Given the description of an element on the screen output the (x, y) to click on. 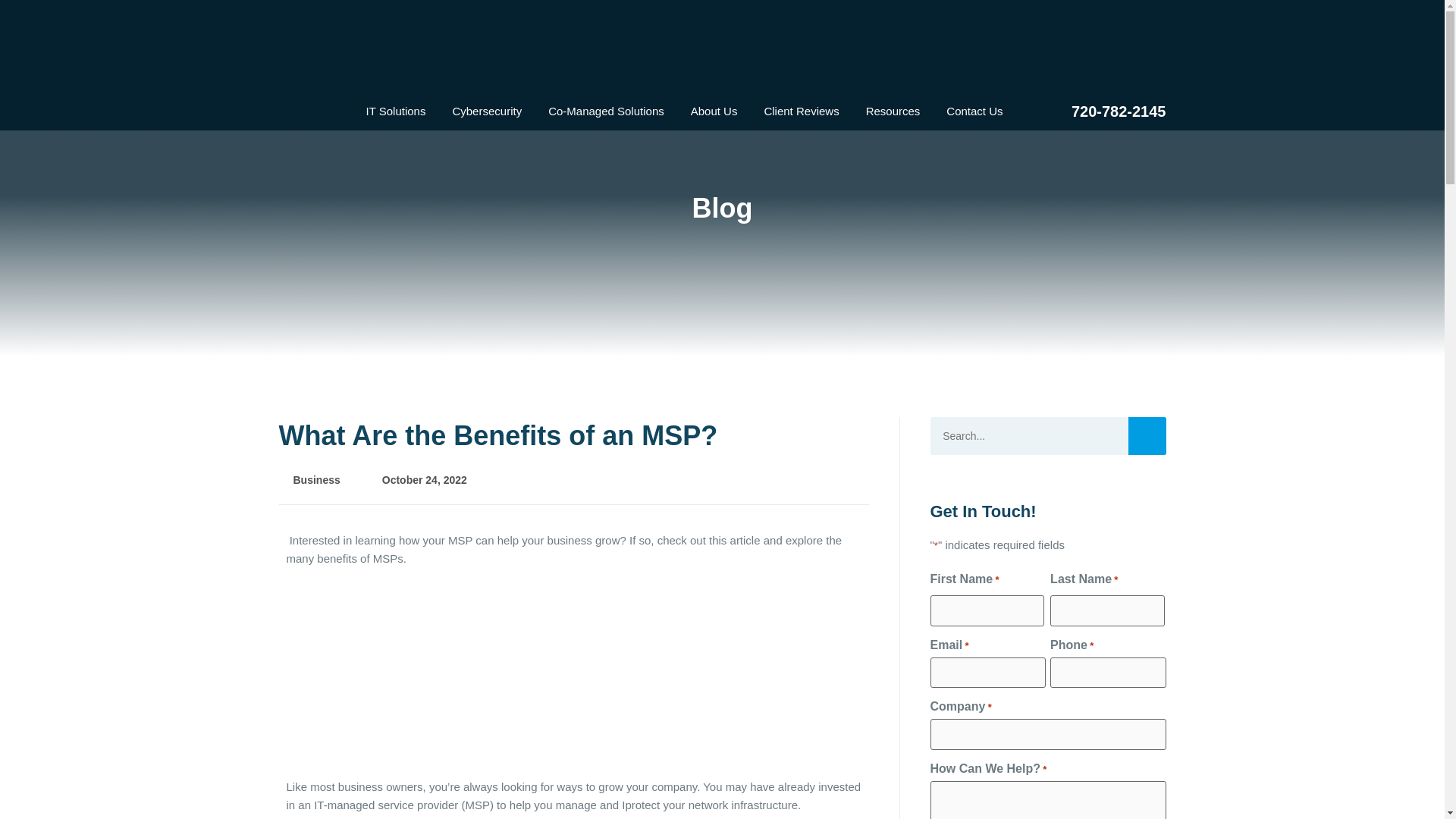
IT Solutions (396, 111)
Cybersecurity (486, 111)
Co-Managed Solutions (606, 111)
About Us (714, 111)
